Given the description of an element on the screen output the (x, y) to click on. 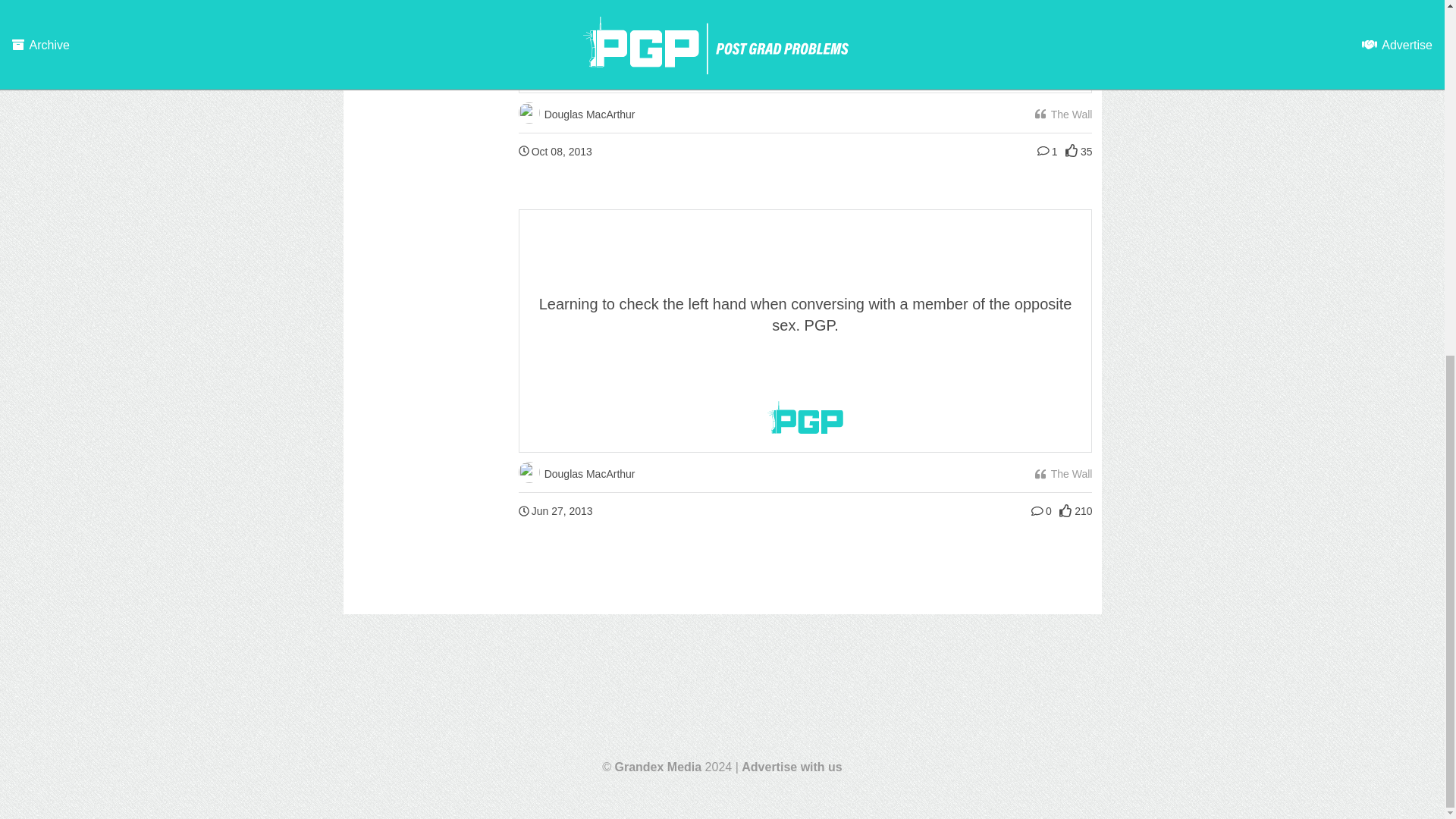
Grandex Media (657, 766)
1 (1049, 151)
0 (1043, 510)
Douglas MacArthur (576, 473)
The Wall (1063, 474)
Douglas MacArthur (576, 114)
Advertise with us (791, 766)
The Wall (1063, 114)
